Given the description of an element on the screen output the (x, y) to click on. 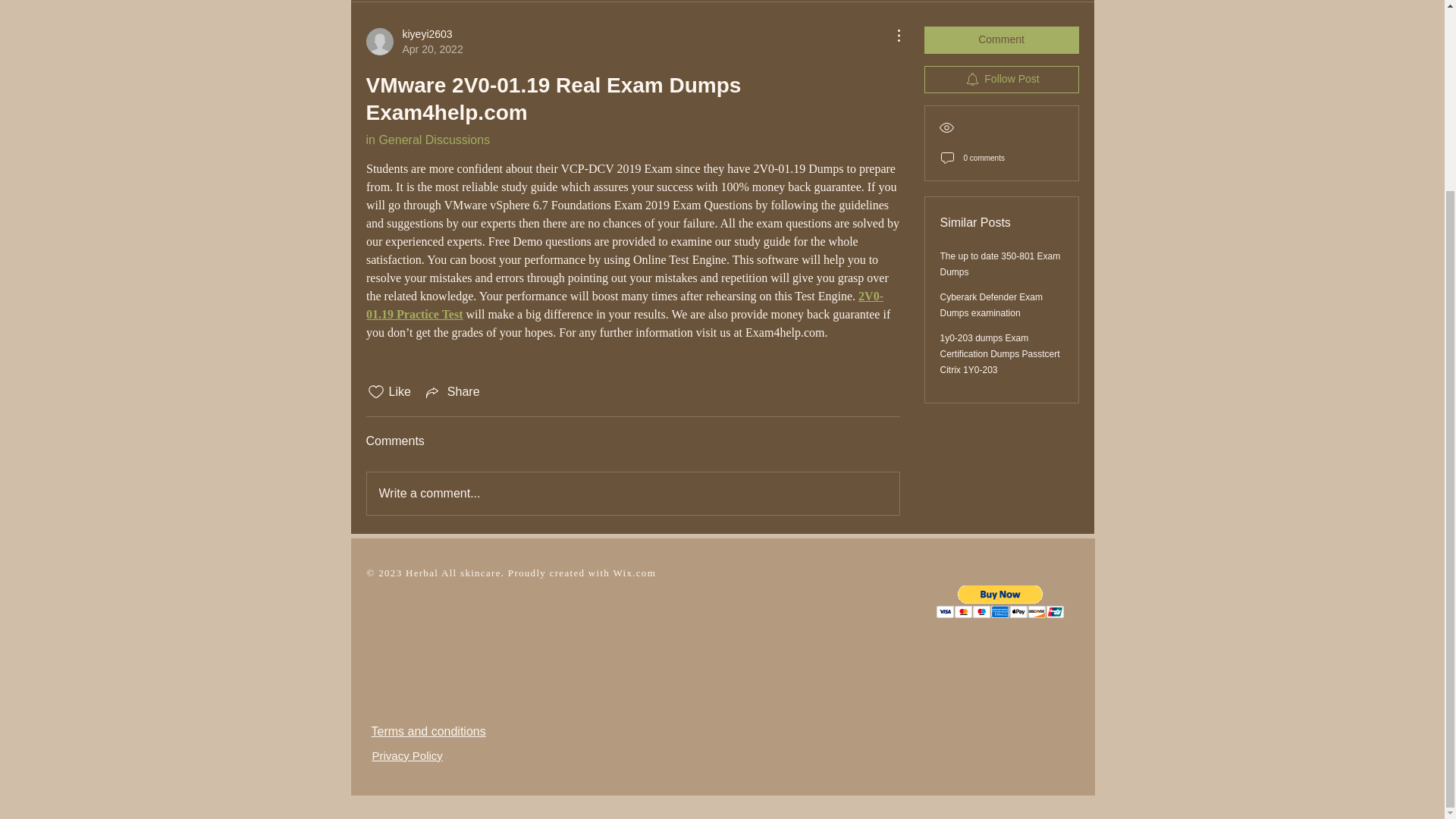
Cyberark Defender Exam Dumps examination (991, 304)
Wix.com (634, 572)
Privacy Policy (406, 755)
2V0-01.19 Practice Test (623, 305)
The up to date 350-801 Exam Dumps (1000, 263)
Follow Post (1000, 79)
Comment (414, 41)
Write a comment... (1000, 40)
in General Discussions (632, 493)
Terms and conditions (427, 139)
Share (428, 730)
